Given the description of an element on the screen output the (x, y) to click on. 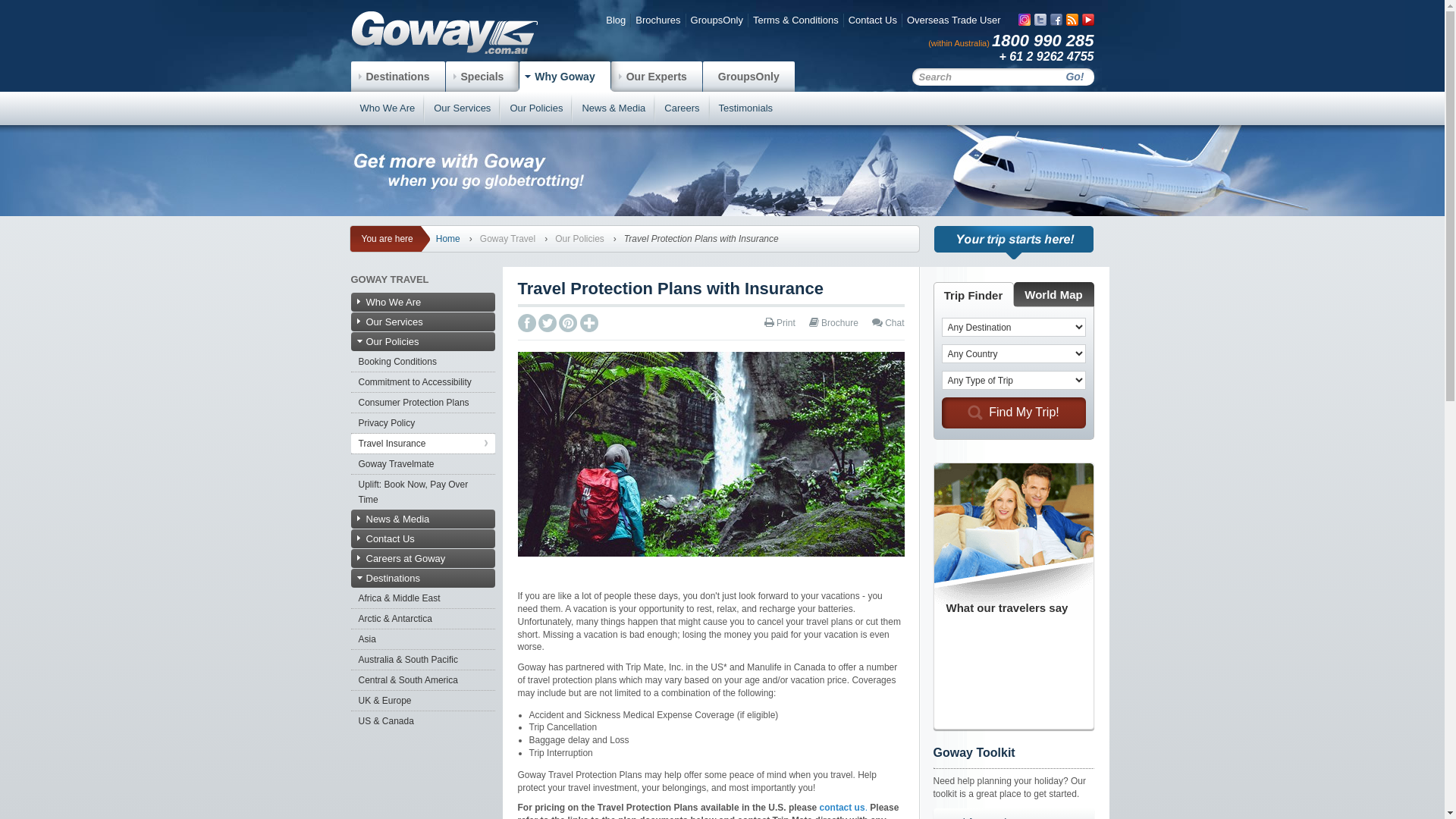
contact us Element type: text (842, 807)
1800 990 285 Element type: text (1042, 40)
GroupsOnly Element type: text (716, 20)
Contact Us Element type: text (872, 20)
. Element type: text (866, 807)
Goway Travelmate Element type: text (422, 463)
twitter Element type: text (1040, 19)
Why Goway Element type: text (564, 76)
Africa & Middle East Element type: text (422, 598)
Back to Goway homepage Element type: hover (443, 32)
UK & Europe Element type: text (422, 700)
facebook Element type: text (1055, 19)
Specials Element type: text (482, 76)
instagram Element type: text (1023, 19)
Home Element type: text (448, 238)
Consumer Protection Plans Element type: text (422, 402)
Asia Element type: text (422, 639)
+ 61 2 9262 4755 Element type: text (1045, 56)
Australia & South Pacific Element type: text (422, 659)
Booking Conditions Element type: text (422, 361)
rss Element type: text (1072, 19)
GroupsOnly Element type: text (748, 76)
Chat Element type: text (888, 322)
Our Experts Element type: text (656, 76)
Brochures Element type: text (657, 20)
Blog Element type: text (615, 20)
Destinations Element type: text (397, 76)
Print Element type: text (779, 322)
Testimonials Element type: text (746, 108)
Terms & Conditions Element type: text (795, 20)
Overseas Trade User Element type: text (953, 20)
Arctic & Antarctica Element type: text (422, 618)
US & Canada Element type: text (422, 721)
youtube Element type: text (1087, 19)
Commitment to Accessibility Element type: text (422, 382)
Central & South America Element type: text (422, 680)
Go! Element type: text (1074, 76)
Privacy Policy Element type: text (422, 423)
Find My Trip! Element type: text (1013, 412)
Travel Insurance Element type: text (422, 443)
World Map Element type: text (1053, 294)
Uplift: Book Now, Pay Over Time Element type: text (422, 491)
Brochure Element type: text (833, 322)
